Given the description of an element on the screen output the (x, y) to click on. 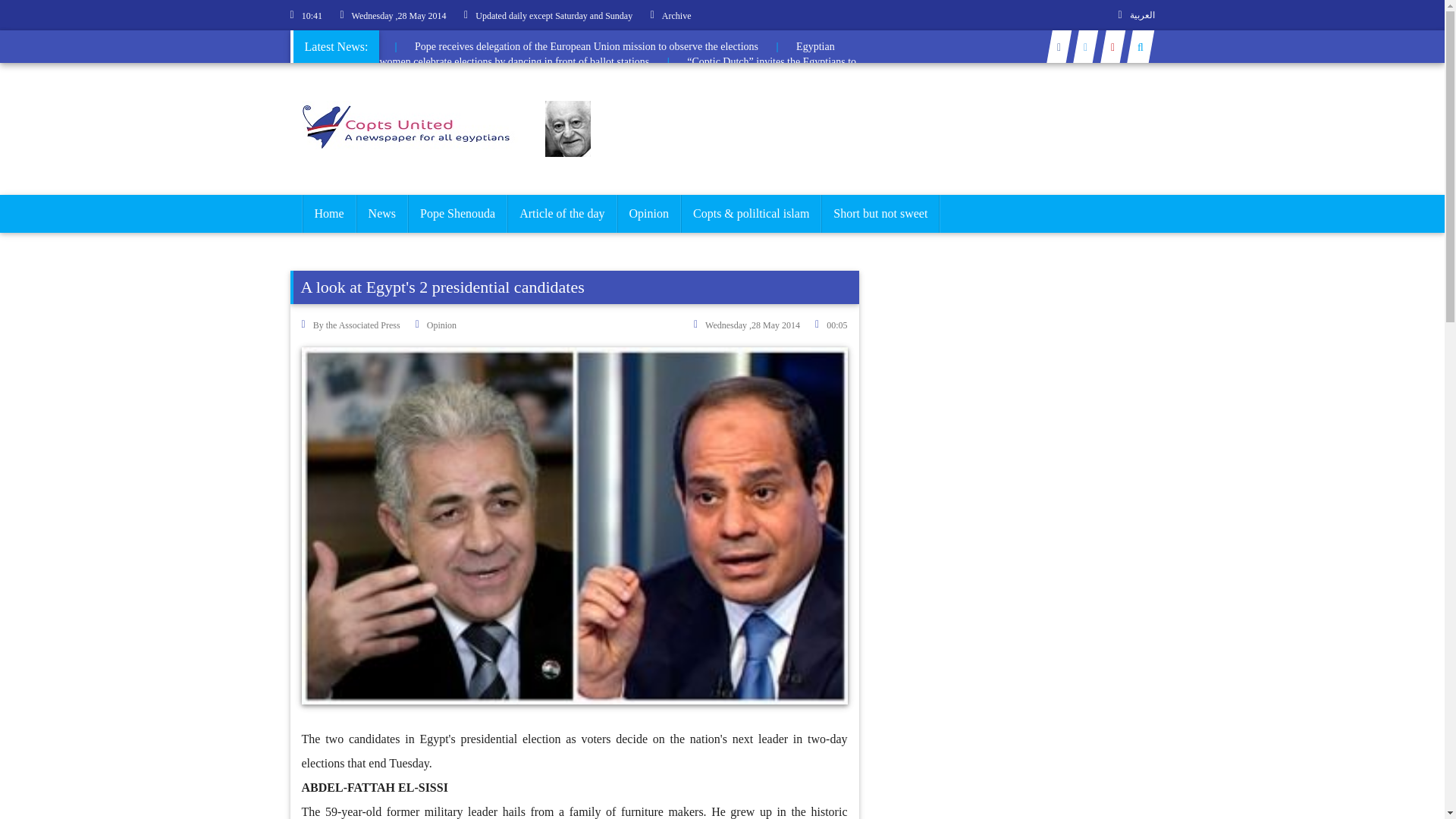
Short but not sweet (880, 213)
Article of the day (561, 213)
News (381, 213)
Opinion (648, 213)
Home (328, 213)
Pope Shenouda (457, 213)
